Given the description of an element on the screen output the (x, y) to click on. 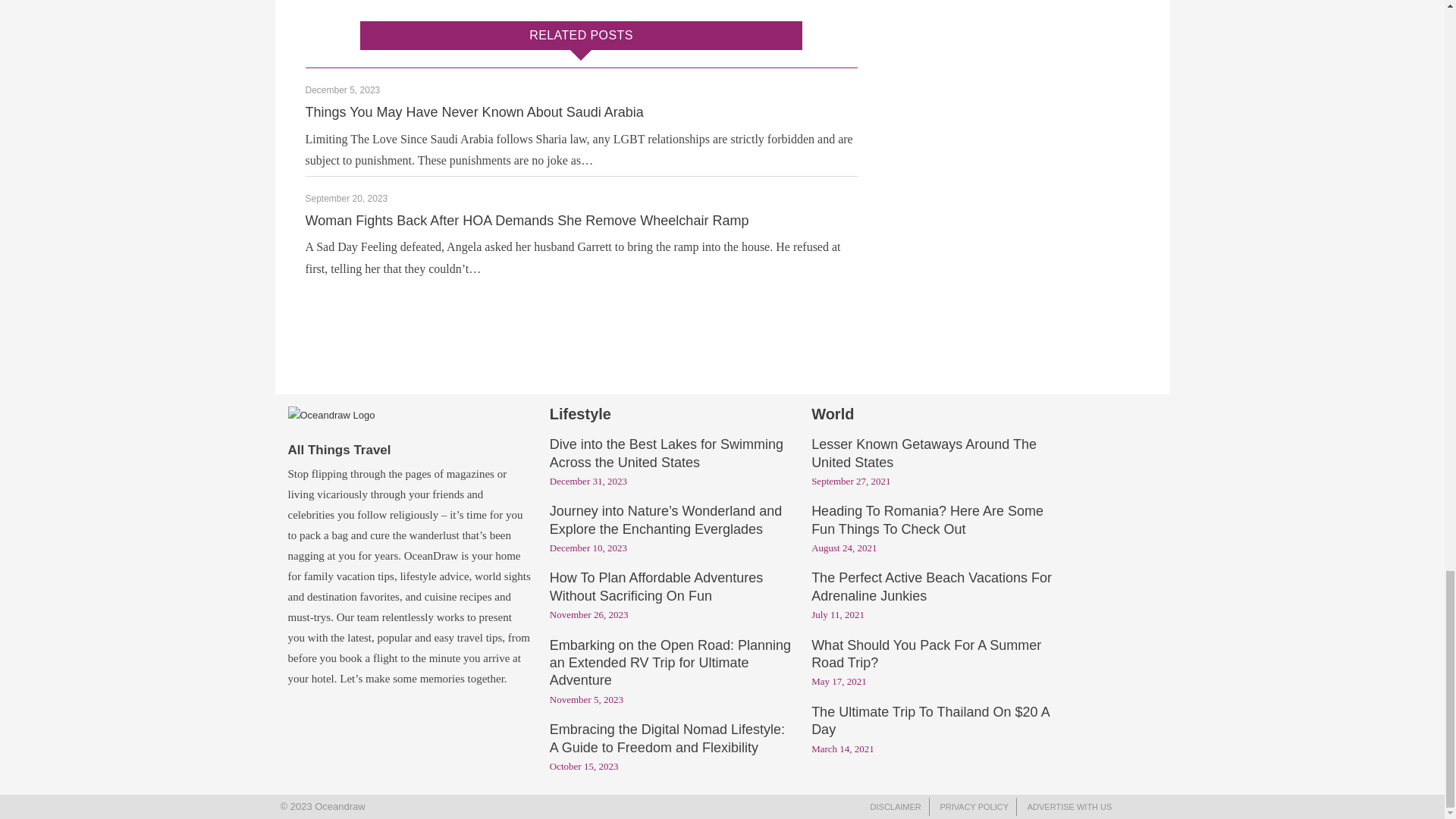
ADVERTISE WITH US (1069, 806)
Heading To Romania? Here Are Some Fun Things To Check Out (926, 520)
The Perfect Active Beach Vacations For Adrenaline Junkies (930, 587)
Things You May Have Never Known About Saudi Arabia (473, 111)
How To Plan Affordable Adventures Without Sacrificing On Fun (656, 587)
PRIVACY POLICY (974, 806)
What Should You Pack For A Summer Road Trip? (925, 654)
